Given the description of an element on the screen output the (x, y) to click on. 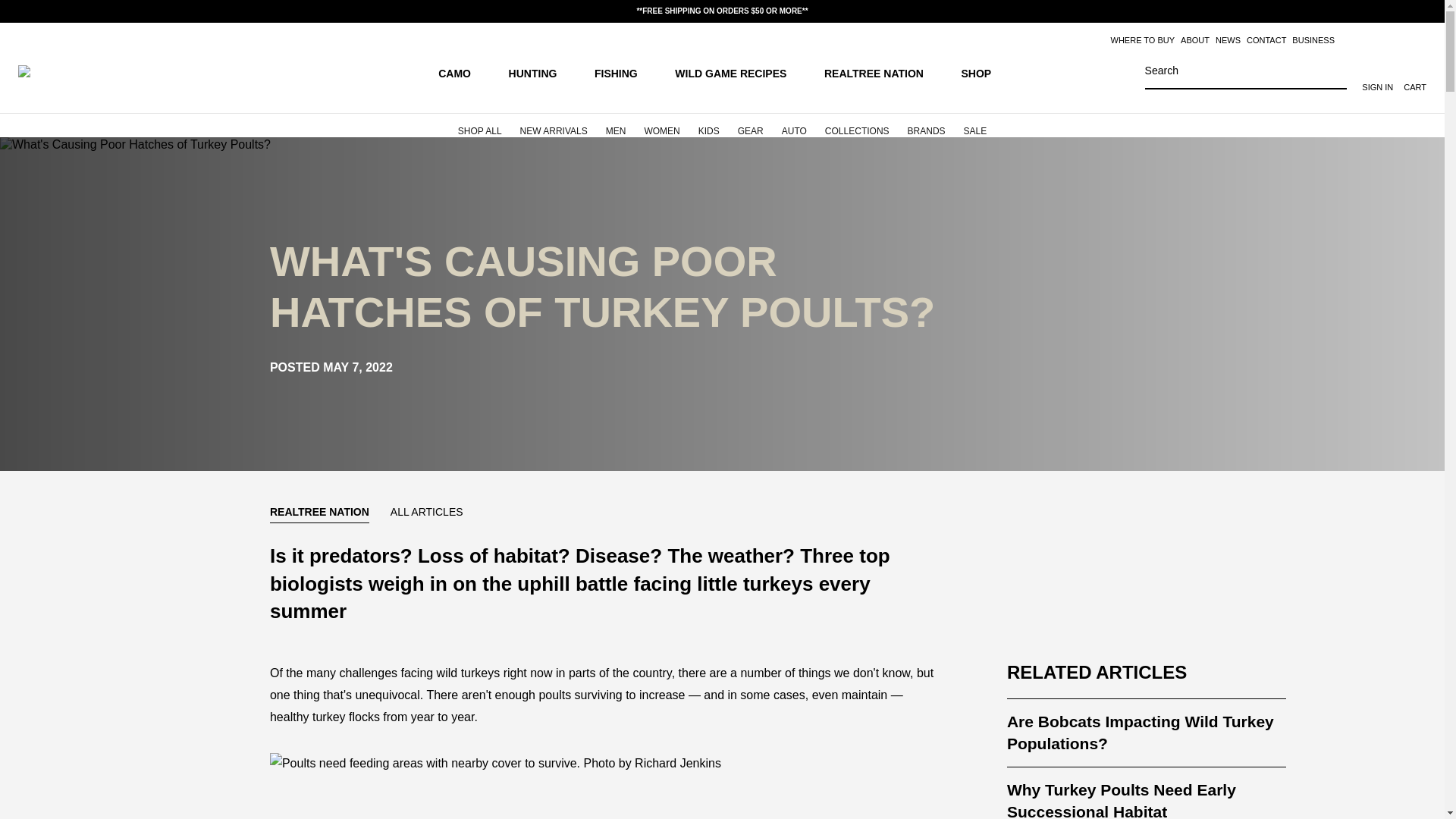
GEAR (751, 125)
WOMEN (661, 125)
ABOUT (1194, 40)
AUTO (794, 125)
BRANDS (926, 125)
BUSINESS (1313, 40)
CONTACT (1265, 40)
SALE (975, 125)
REALTREE NATION (881, 72)
MEN (615, 125)
COLLECTIONS (856, 125)
Close promo bar (1424, 10)
WILD GAME RECIPES (738, 72)
SHOP ALL (479, 125)
FISHING (623, 72)
